Given the description of an element on the screen output the (x, y) to click on. 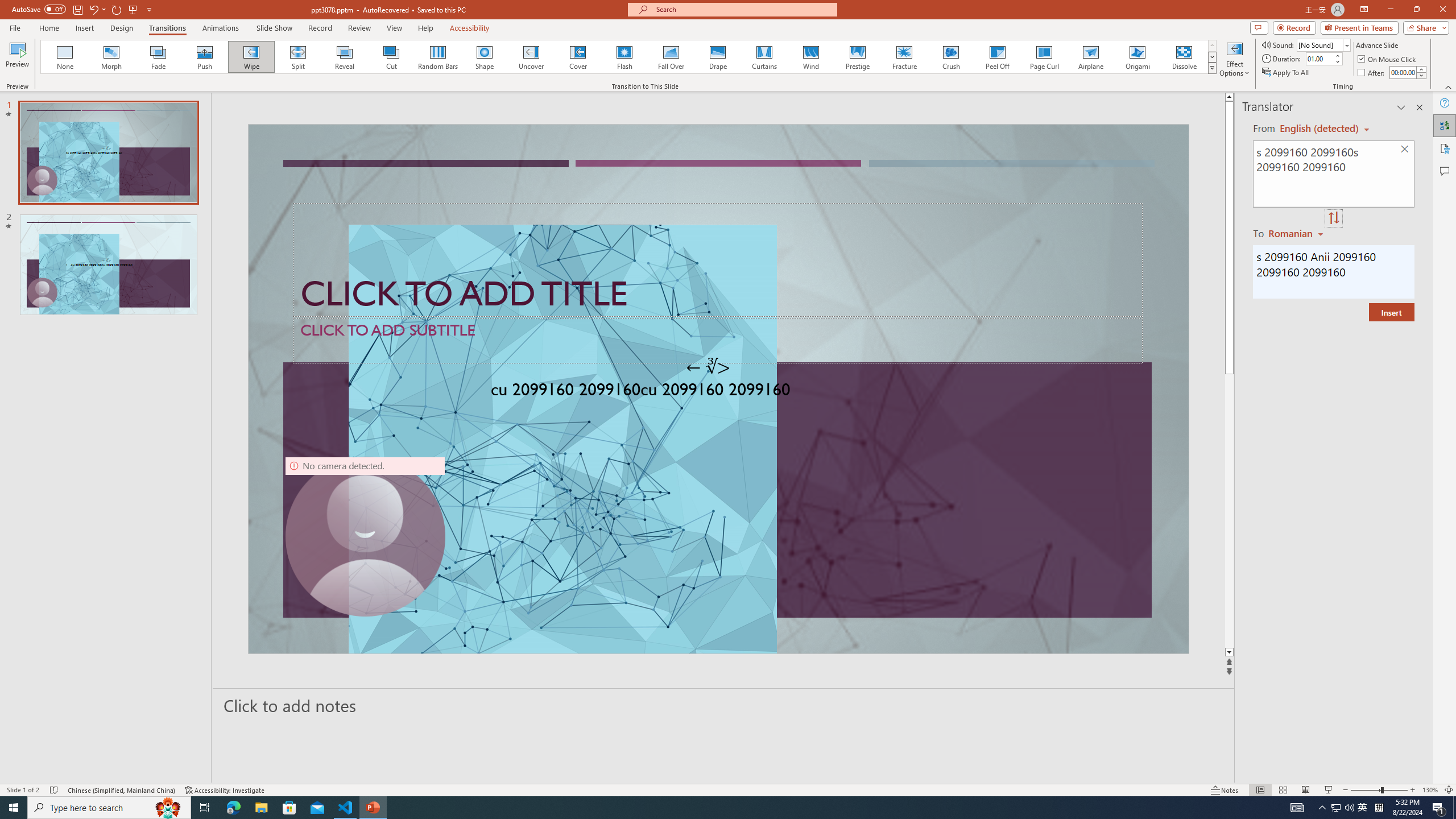
Swap "from" and "to" languages. (1333, 218)
Subtitle TextBox (717, 339)
Drape (717, 56)
TextBox 7 (708, 367)
Airplane (1090, 56)
